Given the description of an element on the screen output the (x, y) to click on. 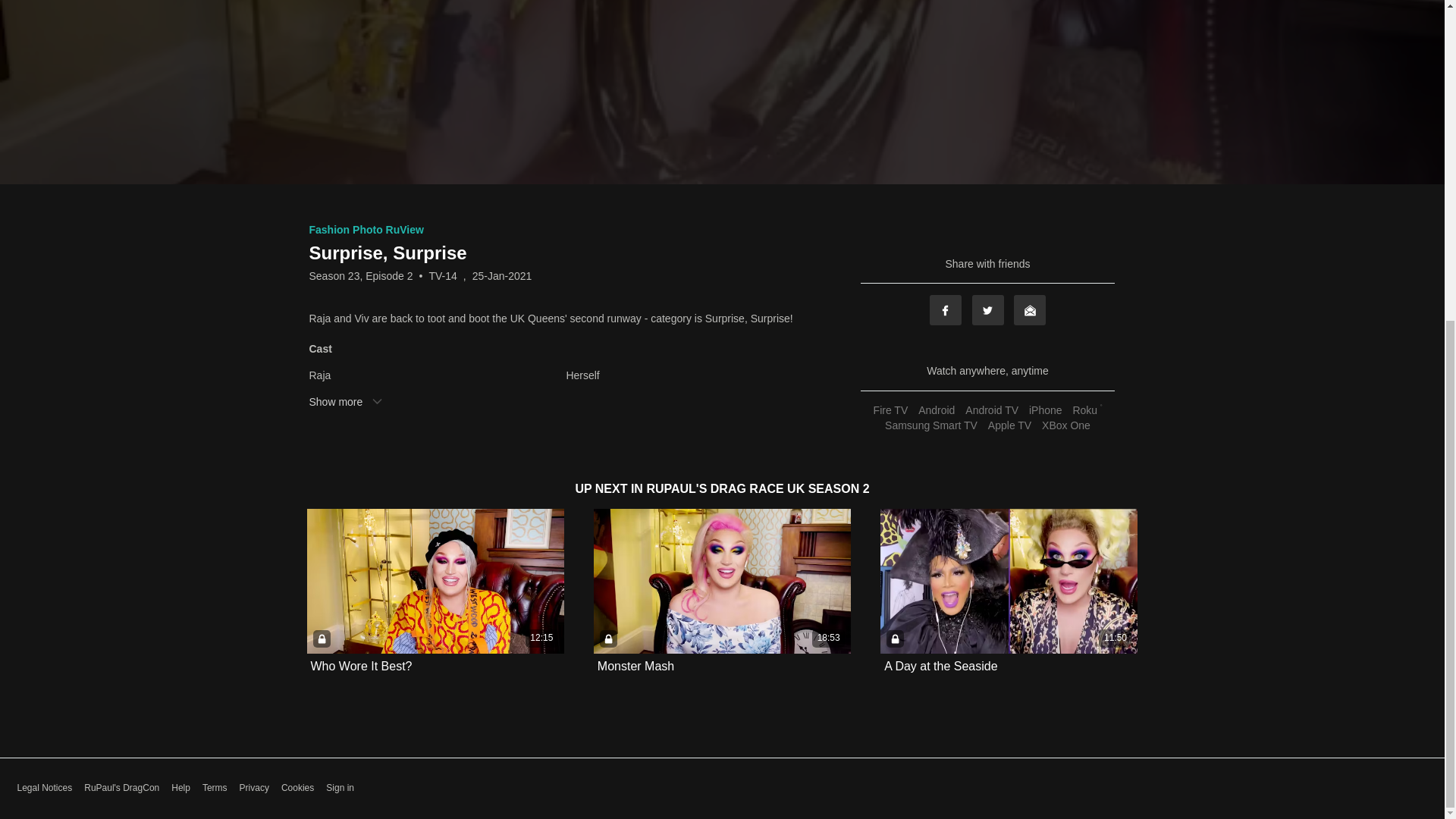
Fire TV (890, 410)
Facebook (945, 309)
Fashion Photo RuView (365, 229)
RUPAUL'S DRAG RACE UK SEASON 2 (757, 488)
Raja (435, 375)
Twitter (988, 309)
Android (936, 410)
Monster Mash (635, 666)
Email (1029, 309)
Monster Mash (635, 666)
Apple TV (1009, 425)
Samsung Smart TV (930, 425)
Android TV (991, 410)
11:50 (1008, 580)
XBox One (1066, 425)
